Given the description of an element on the screen output the (x, y) to click on. 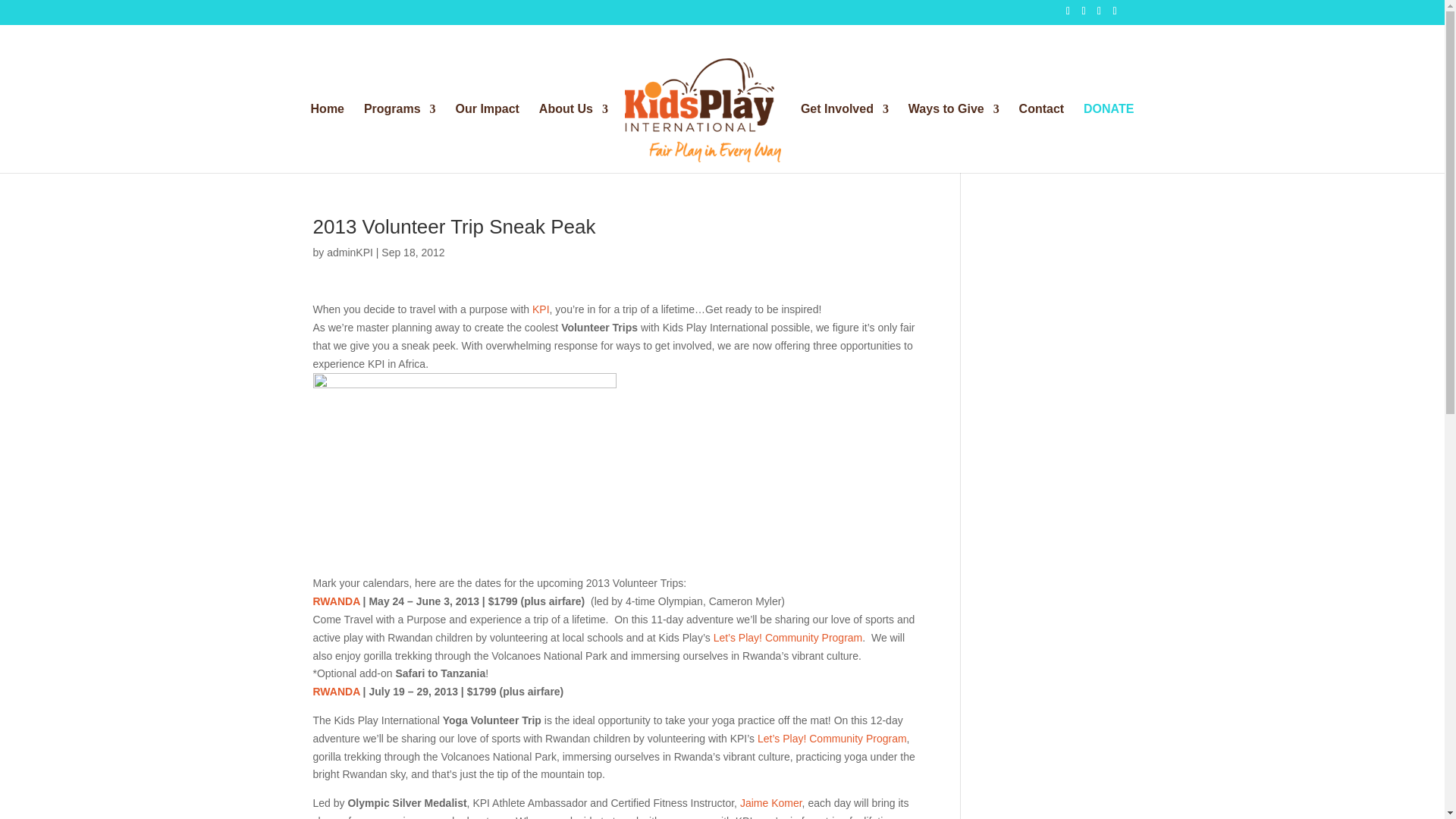
DONATE (1108, 138)
Get Involved (844, 138)
Ways to Give (953, 138)
Our Impact (486, 138)
Home (327, 138)
About Us (573, 138)
Contact (1041, 138)
Posts by adminKPI (349, 252)
Programs (399, 138)
